Given the description of an element on the screen output the (x, y) to click on. 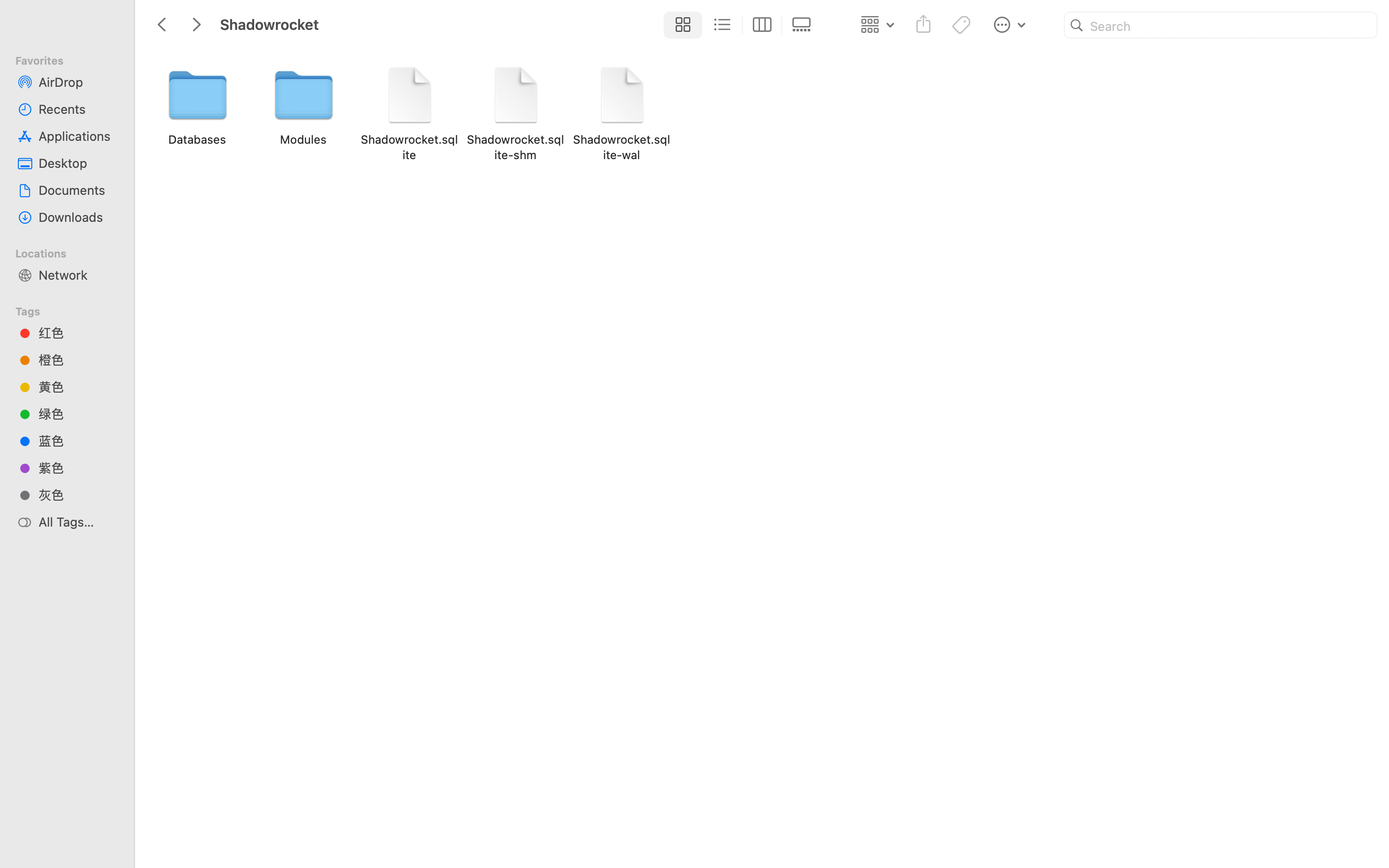
AirDrop Element type: AXStaticText (77, 81)
Locations Element type: AXStaticText (72, 252)
<AXUIElement 0x11d99da00> {pid=510} Element type: AXRadioGroup (741, 24)
